Given the description of an element on the screen output the (x, y) to click on. 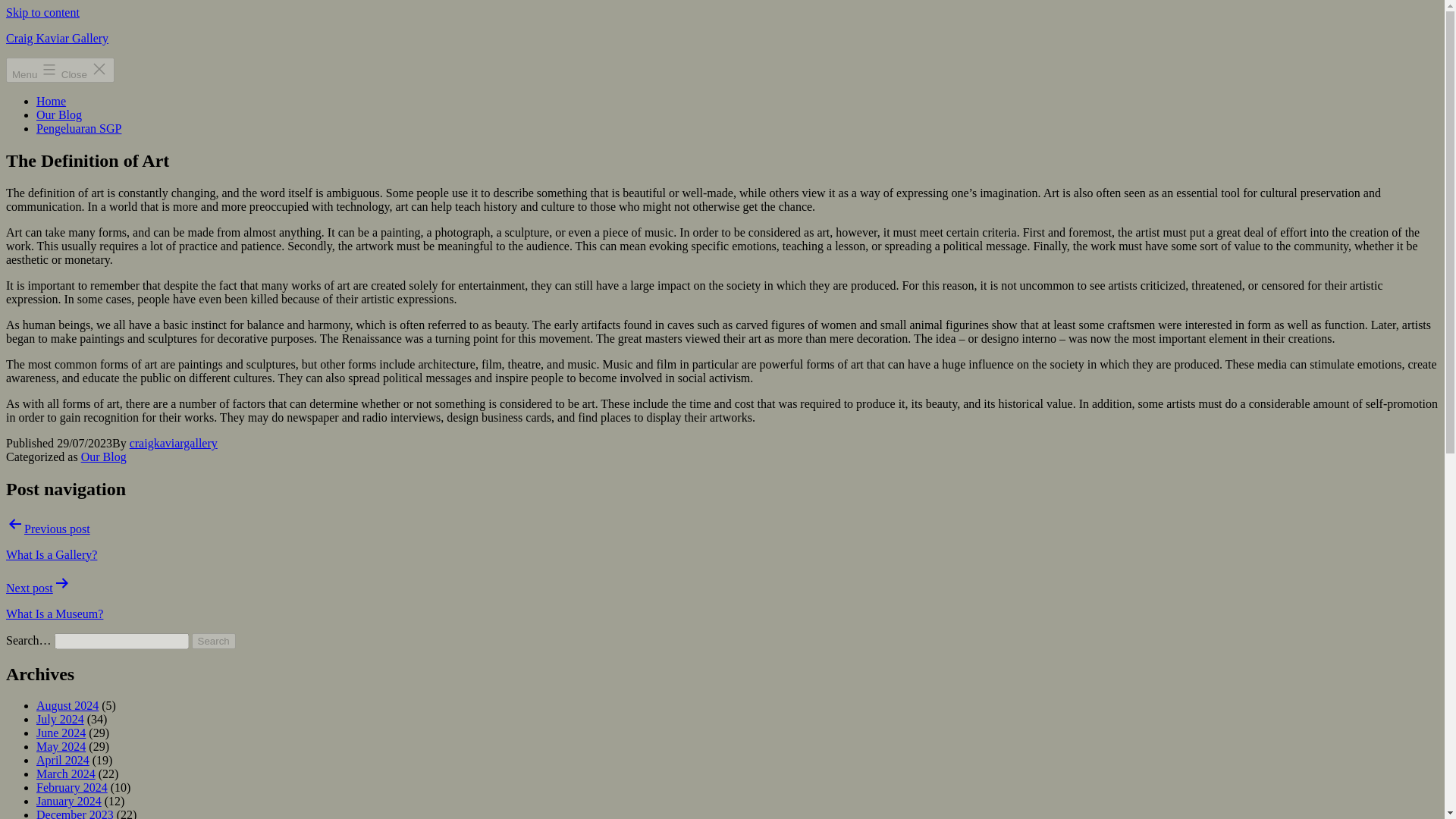
May 2024 (60, 746)
July 2024 (60, 718)
February 2024 (71, 787)
Pengeluaran SGP (78, 128)
Search (213, 641)
Search (213, 641)
March 2024 (66, 773)
Home (50, 101)
Craig Kaviar Gallery (56, 38)
June 2024 (60, 732)
Our Blog (58, 114)
Skip to content (42, 11)
Our Blog (103, 456)
April 2024 (62, 759)
December 2023 (74, 813)
